Given the description of an element on the screen output the (x, y) to click on. 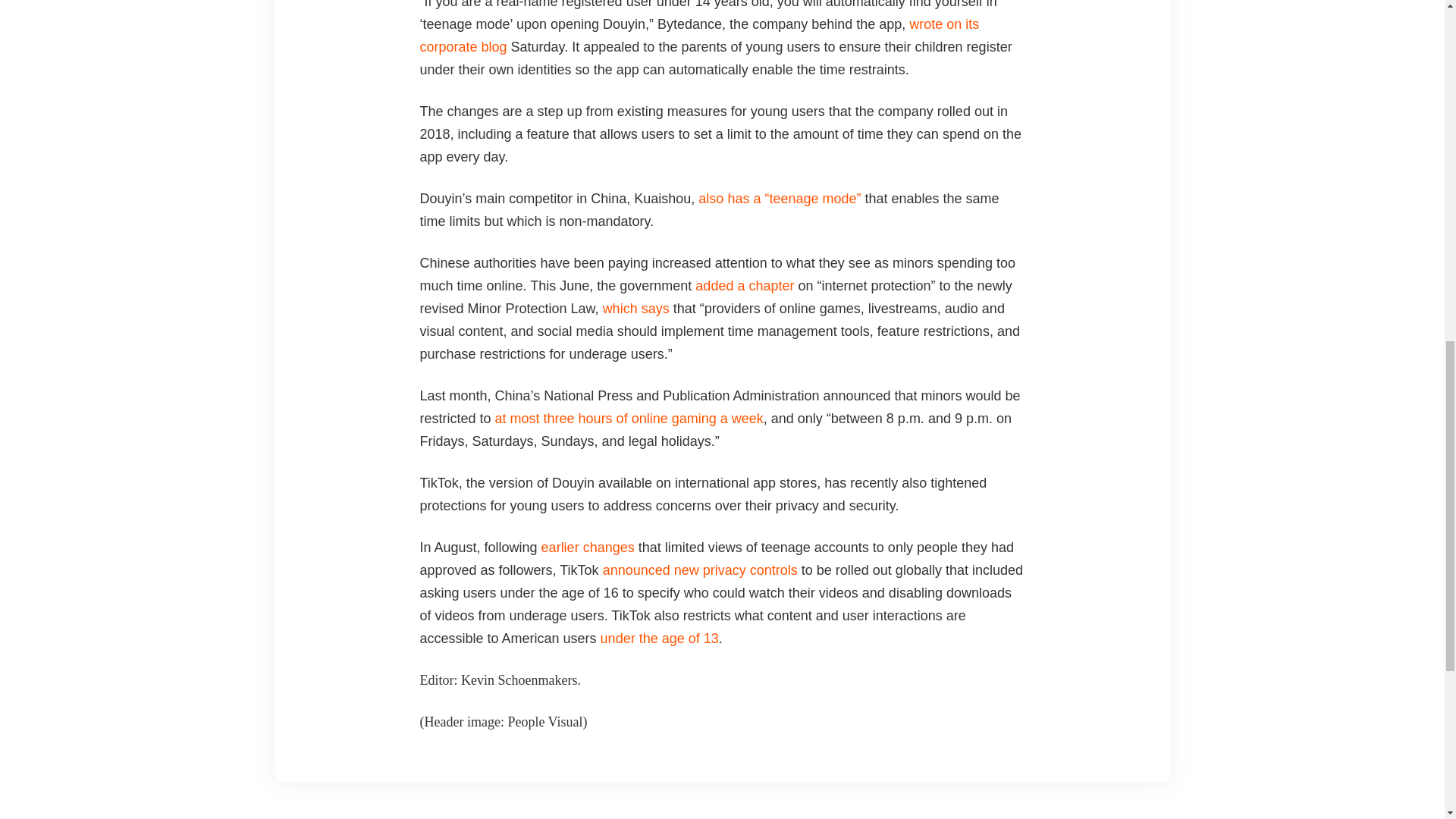
wrote on its corporate blog (699, 35)
at most three hours of online gaming a week (628, 418)
earlier changes (587, 547)
added a chapter (744, 285)
announced new privacy controls (699, 570)
which says (635, 308)
under the age of 13 (659, 638)
